Given the description of an element on the screen output the (x, y) to click on. 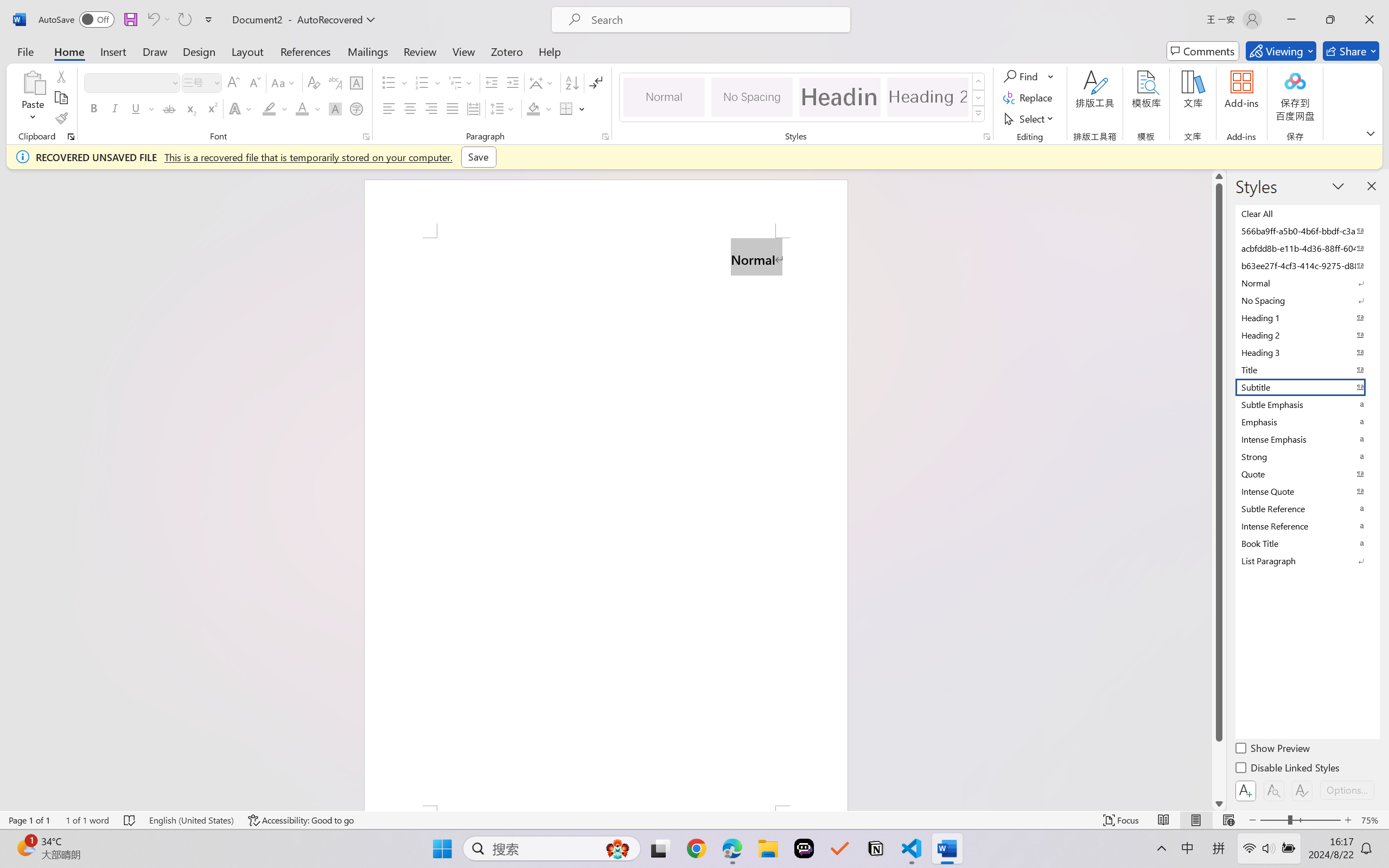
Format Painter (60, 118)
